Given the description of an element on the screen output the (x, y) to click on. 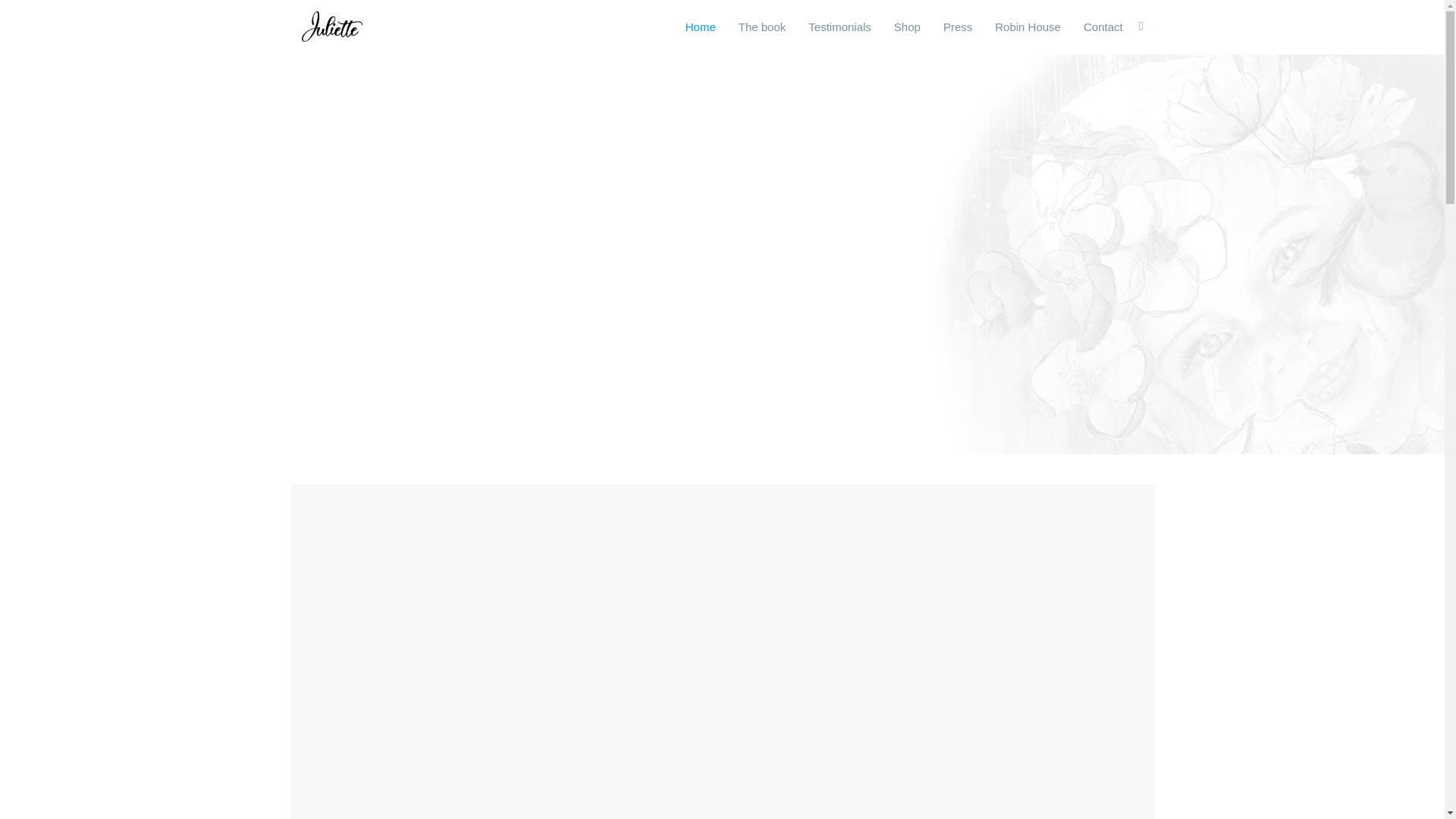
Home (700, 27)
The book (761, 27)
Press (957, 27)
Testimonials (839, 27)
Robin House (1027, 27)
Shop (906, 27)
Contact (1102, 27)
